Given the description of an element on the screen output the (x, y) to click on. 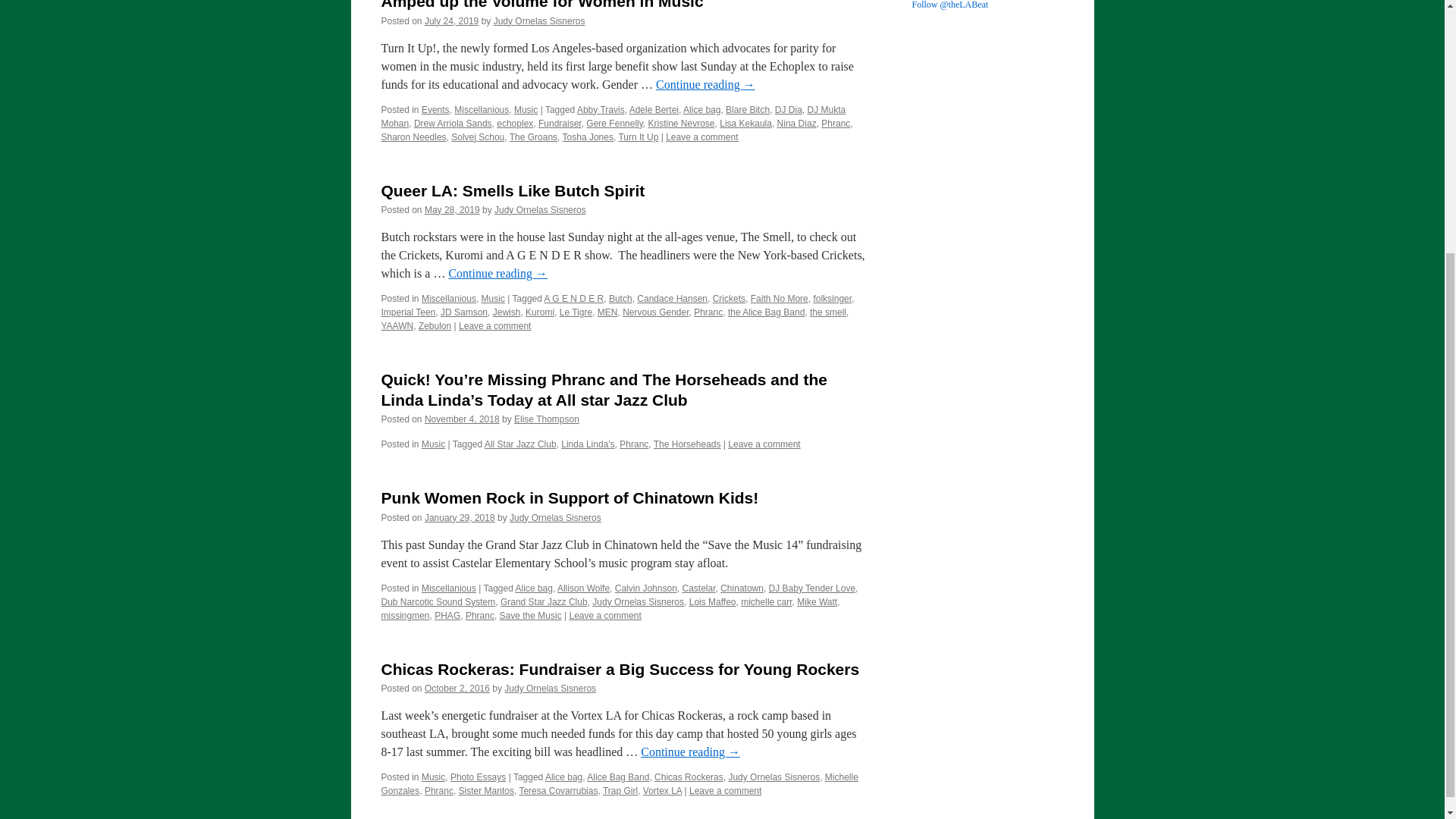
Alice bag (701, 109)
Sharon Needles (412, 136)
Fundraiser (559, 122)
8:32 pm (452, 209)
Phranc (835, 122)
View all posts by Judy Ornelas Sisneros (555, 517)
DJ Mukta Mohan (612, 116)
Judy Ornelas Sisneros (540, 209)
Events (435, 109)
View all posts by Judy Ornelas Sisneros (549, 688)
